Given the description of an element on the screen output the (x, y) to click on. 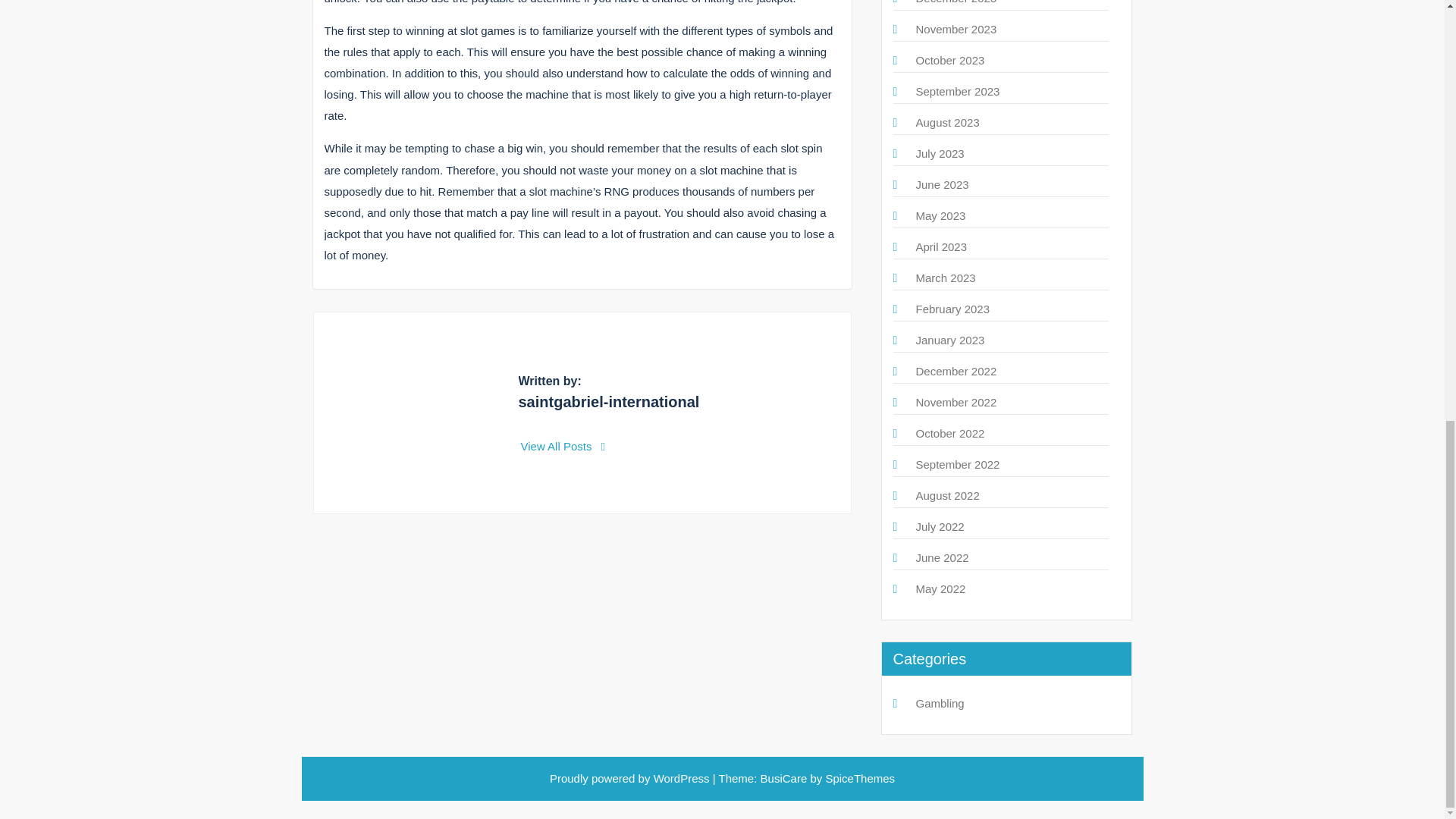
August 2022 (947, 495)
June 2023 (942, 184)
August 2023 (947, 122)
September 2023 (957, 91)
September 2022 (957, 463)
December 2022 (956, 370)
February 2023 (952, 308)
View All Posts (562, 445)
July 2023 (939, 153)
November 2022 (956, 401)
